Given the description of an element on the screen output the (x, y) to click on. 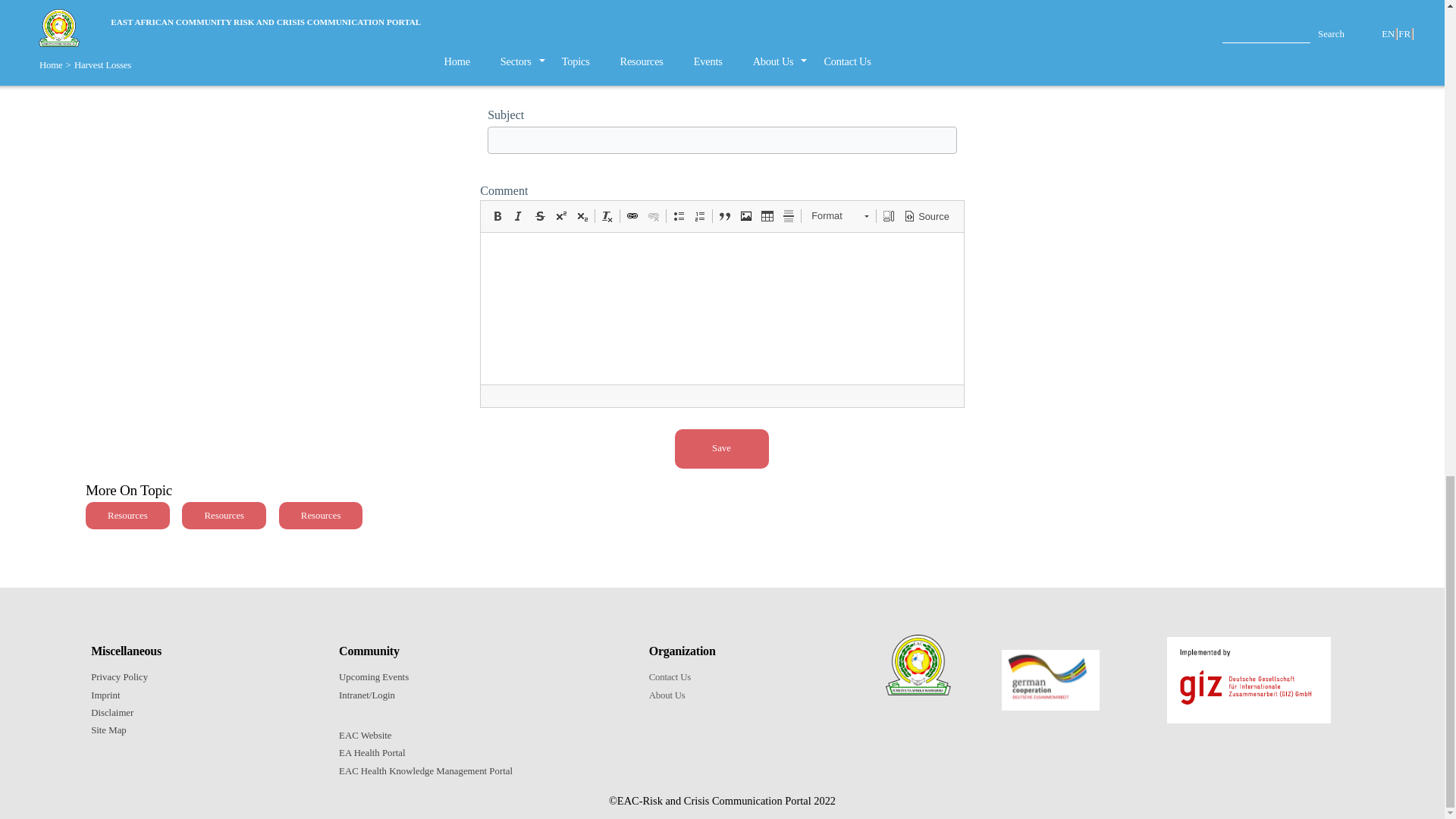
Save (721, 448)
